Given the description of an element on the screen output the (x, y) to click on. 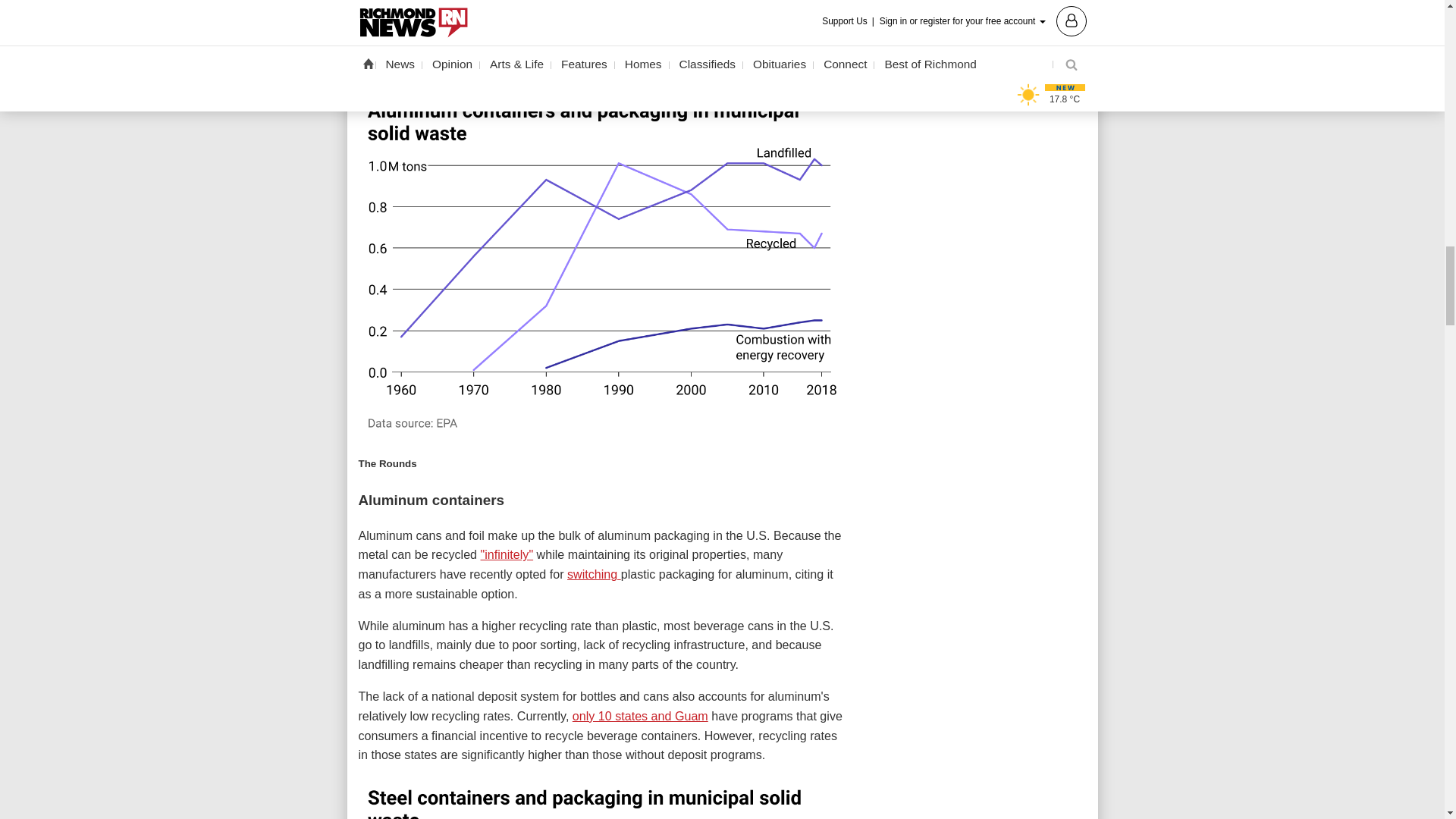
Steel containers (602, 798)
